Given the description of an element on the screen output the (x, y) to click on. 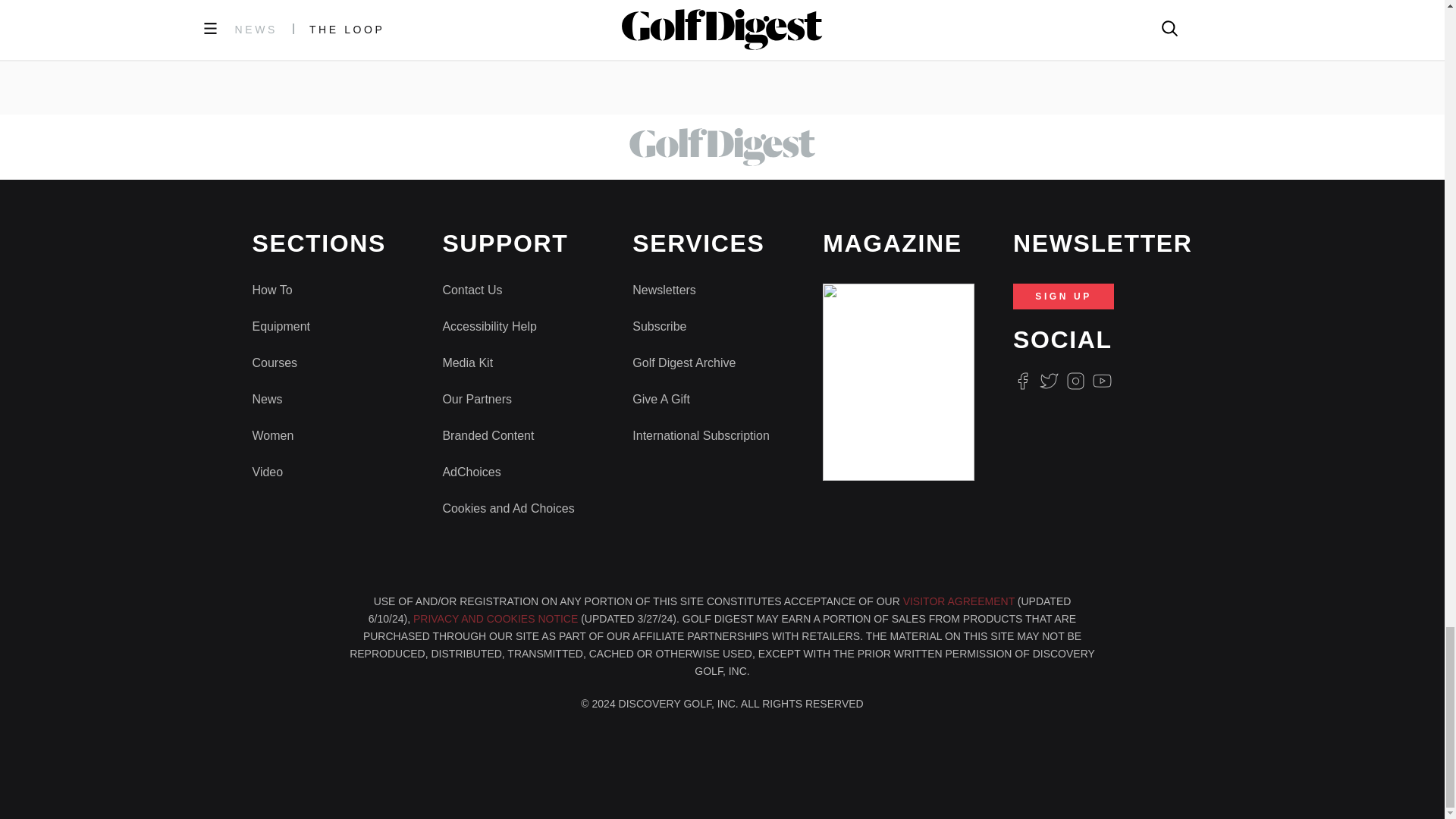
Facebook Logo (1022, 380)
Instagram Logo (1074, 380)
Youtube Icon (1102, 380)
Twitter Logo (1048, 380)
